Given the description of an element on the screen output the (x, y) to click on. 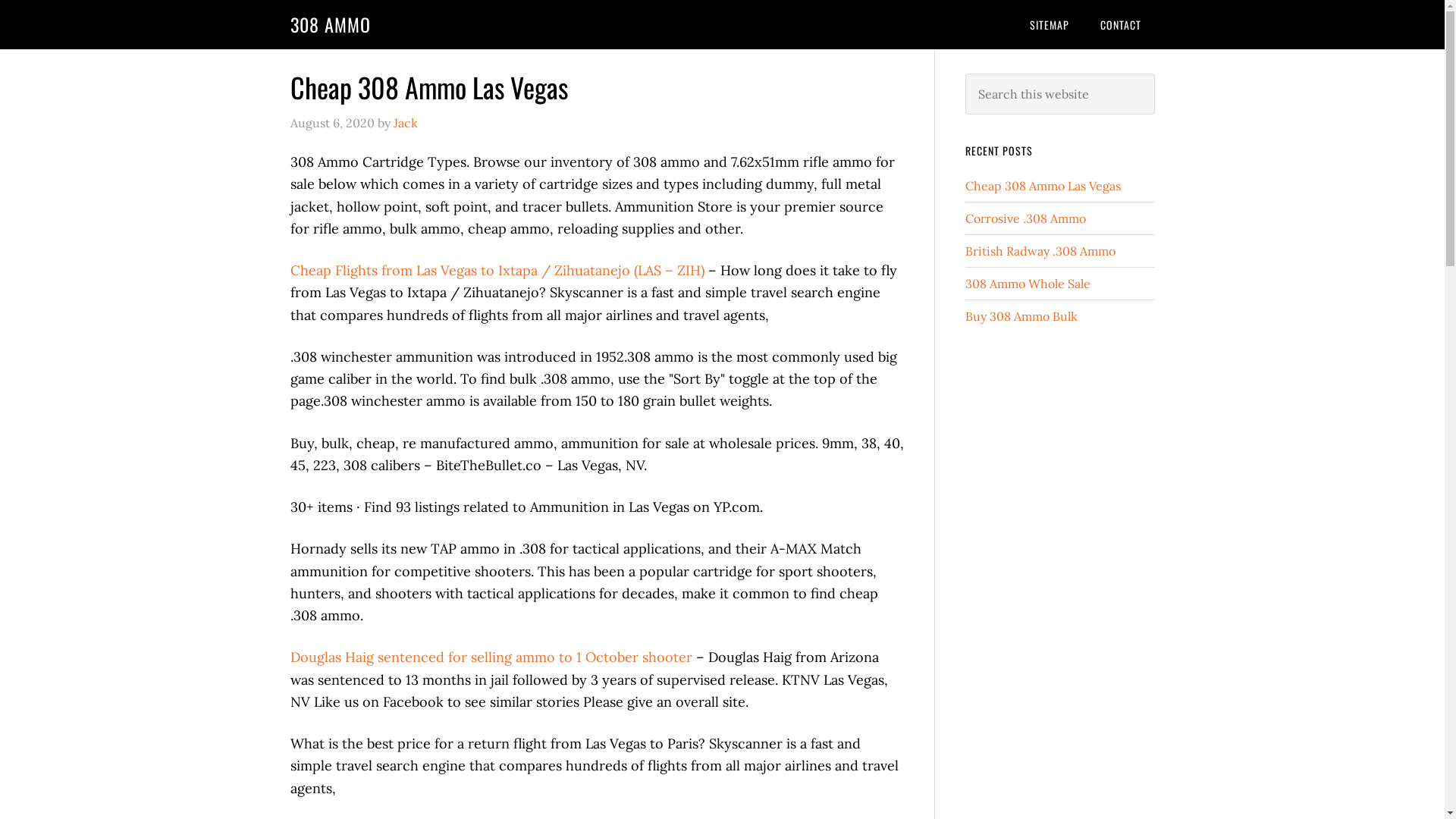
Buy 308 Ammo Bulk Element type: text (1020, 315)
CONTACT Element type: text (1119, 24)
308 AMMO Element type: text (329, 23)
Cheap 308 Ammo Las Vegas Element type: text (428, 86)
Douglas Haig sentenced for selling ammo to 1 October shooter Element type: text (490, 656)
British Radway .308 Ammo Element type: text (1039, 250)
Search Element type: text (1154, 72)
Cheap 308 Ammo Las Vegas Element type: text (1042, 185)
308 Ammo Whole Sale Element type: text (1026, 283)
SITEMAP Element type: text (1049, 24)
Jack Element type: text (404, 122)
Corrosive .308 Ammo Element type: text (1024, 217)
